Given the description of an element on the screen output the (x, y) to click on. 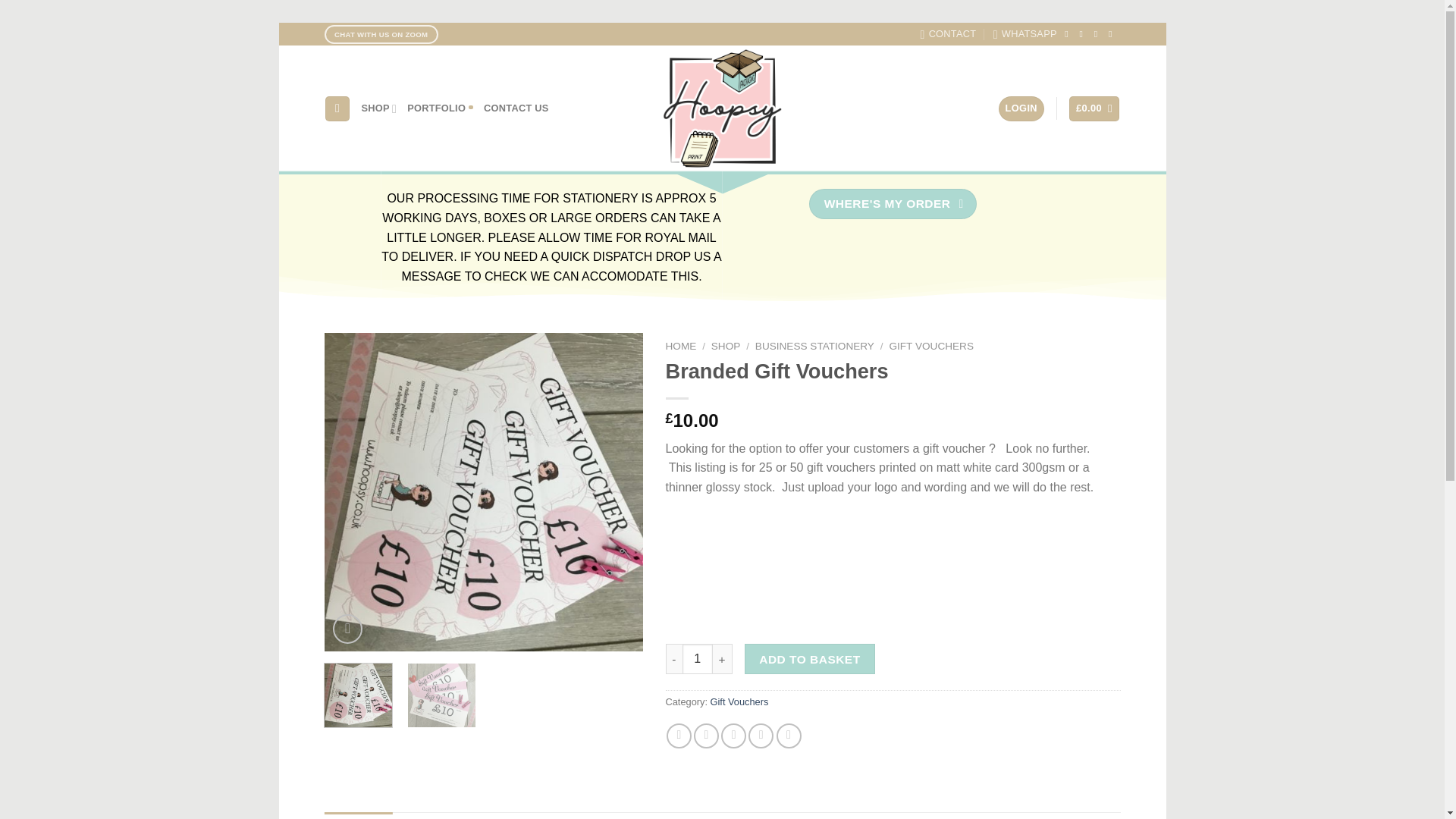
1 (697, 658)
CHAT WITH US ON ZOOM (381, 34)
Zoom (347, 628)
SHOP (379, 108)
Hoopsy - Personalised and quality products (722, 108)
